Given the description of an element on the screen output the (x, y) to click on. 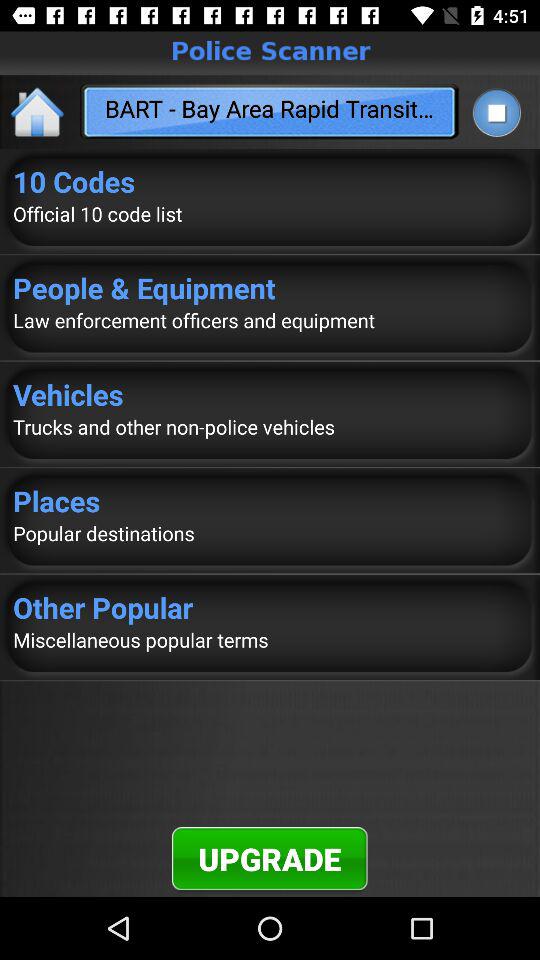
open app above the official 10 code item (269, 181)
